Given the description of an element on the screen output the (x, y) to click on. 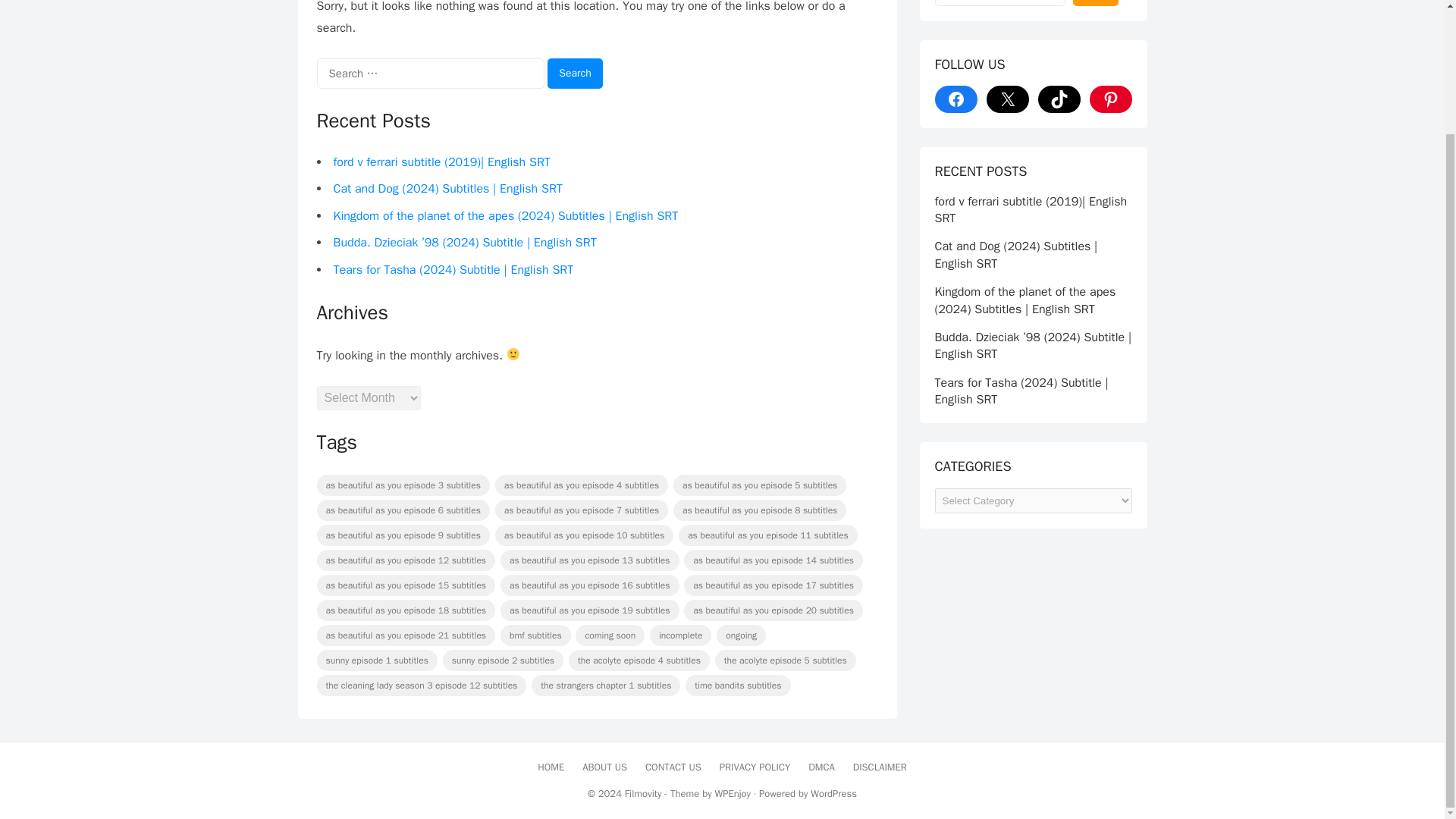
Search (574, 73)
as beautiful as you episode 8 subtitles (758, 509)
as beautiful as you episode 16 subtitles (589, 585)
as beautiful as you episode 17 subtitles (773, 585)
as beautiful as you episode 6 subtitles (403, 509)
as beautiful as you episode 11 subtitles (767, 535)
Search (574, 73)
as beautiful as you episode 5 subtitles (758, 485)
as beautiful as you episode 13 subtitles (589, 559)
as beautiful as you episode 15 subtitles (406, 585)
